Given the description of an element on the screen output the (x, y) to click on. 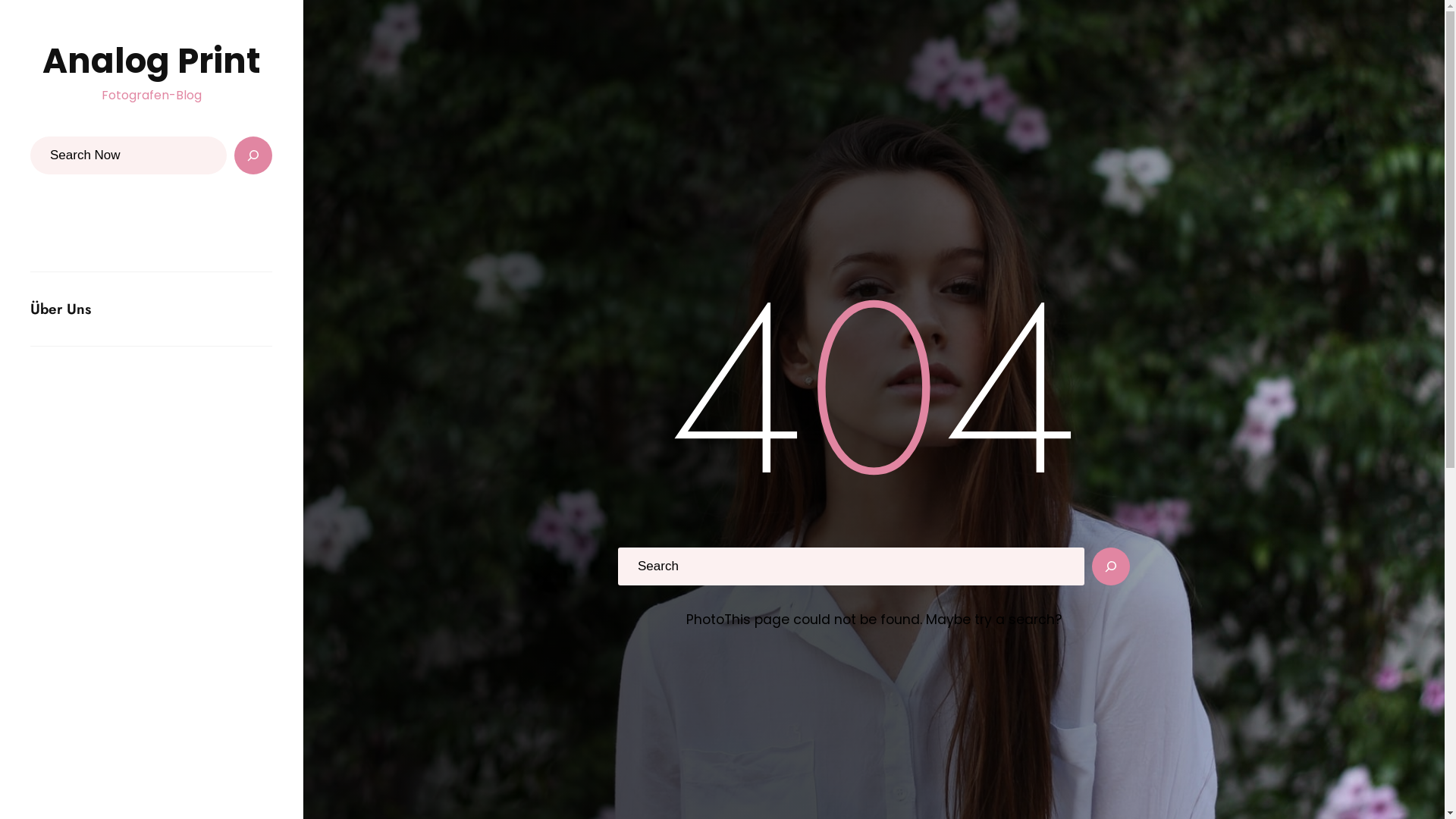
Analog Print Element type: text (151, 62)
